Given the description of an element on the screen output the (x, y) to click on. 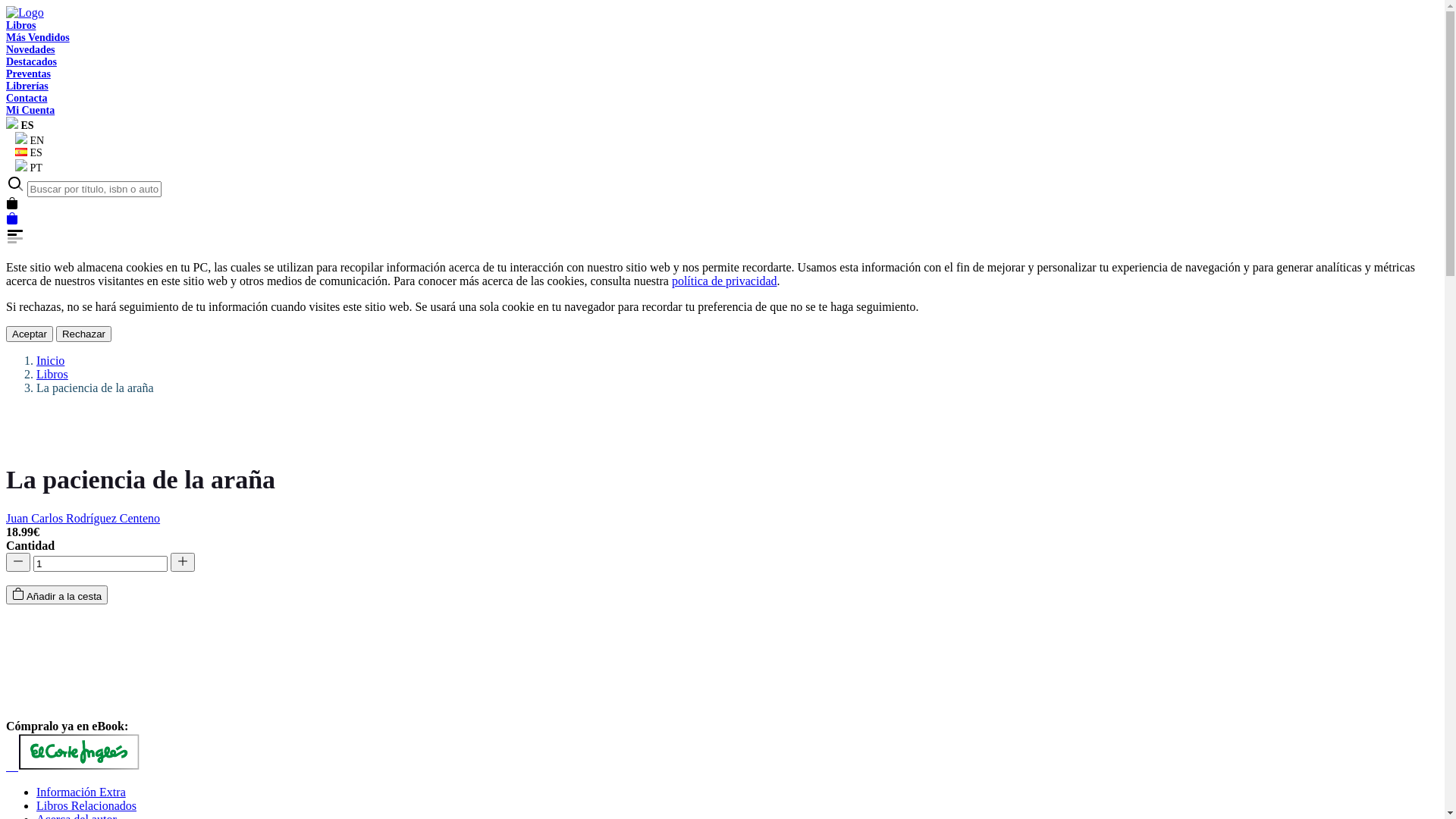
EN Element type: text (24, 140)
Contacta Element type: text (26, 97)
ES Element type: text (20, 125)
Show header menu Element type: hover (722, 230)
Libros Relacionados Element type: text (86, 805)
Novedades Element type: text (30, 49)
Inicio Element type: text (50, 360)
Aceptar Element type: text (29, 334)
Libros Element type: text (52, 373)
ES Element type: text (24, 152)
Mi Cuenta Element type: text (30, 110)
Rechazar Element type: text (83, 334)
PT Element type: text (24, 167)
Libros Element type: text (20, 25)
Preventas Element type: text (28, 73)
Destacados Element type: text (31, 61)
